Given the description of an element on the screen output the (x, y) to click on. 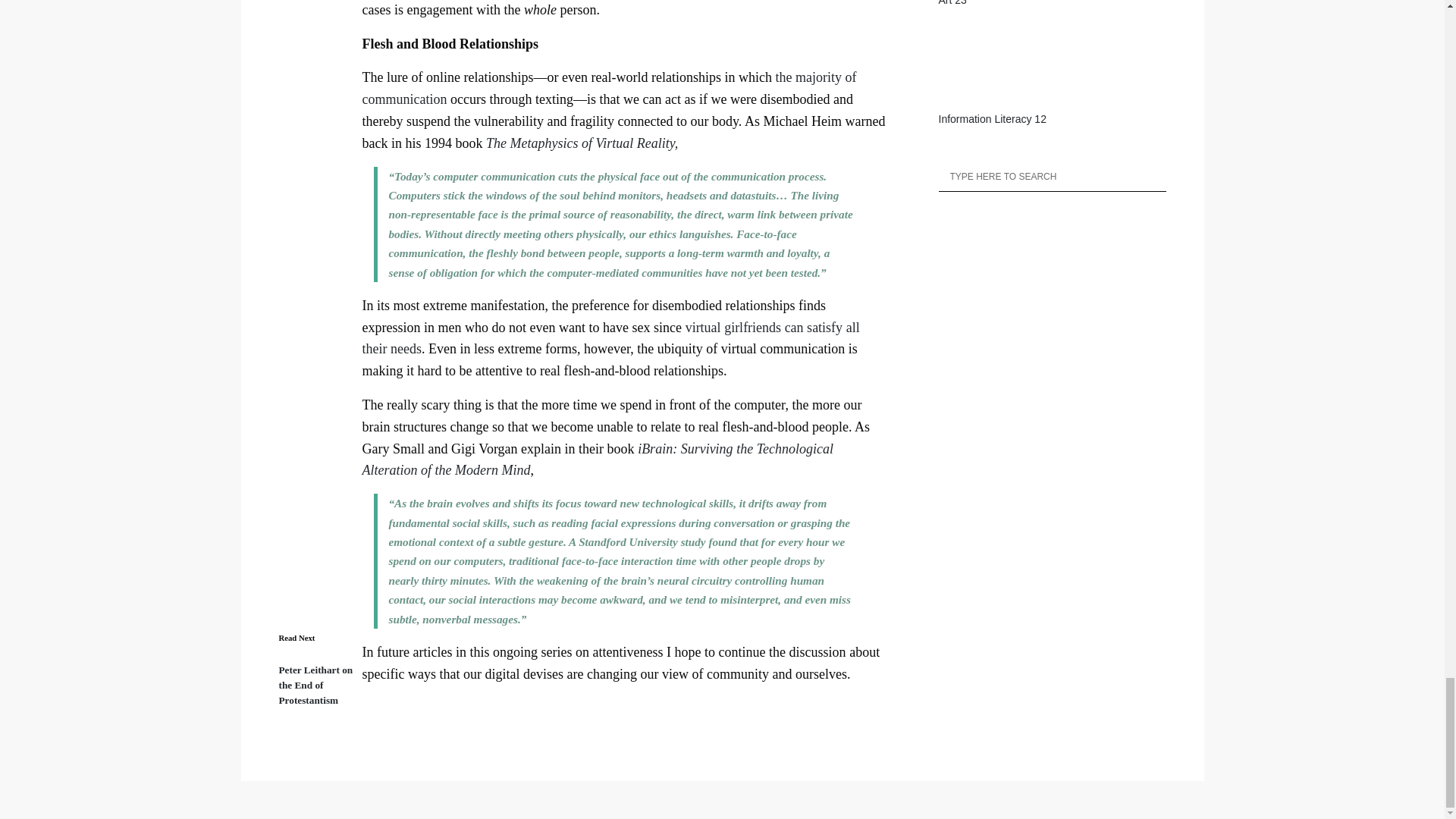
Peter Leithart on the End of Protestantism (316, 684)
The Metaphysics of Virtual Reality, (582, 142)
the majority of communication (609, 88)
virtual girlfriends can satisfy all their needs (611, 338)
